Given the description of an element on the screen output the (x, y) to click on. 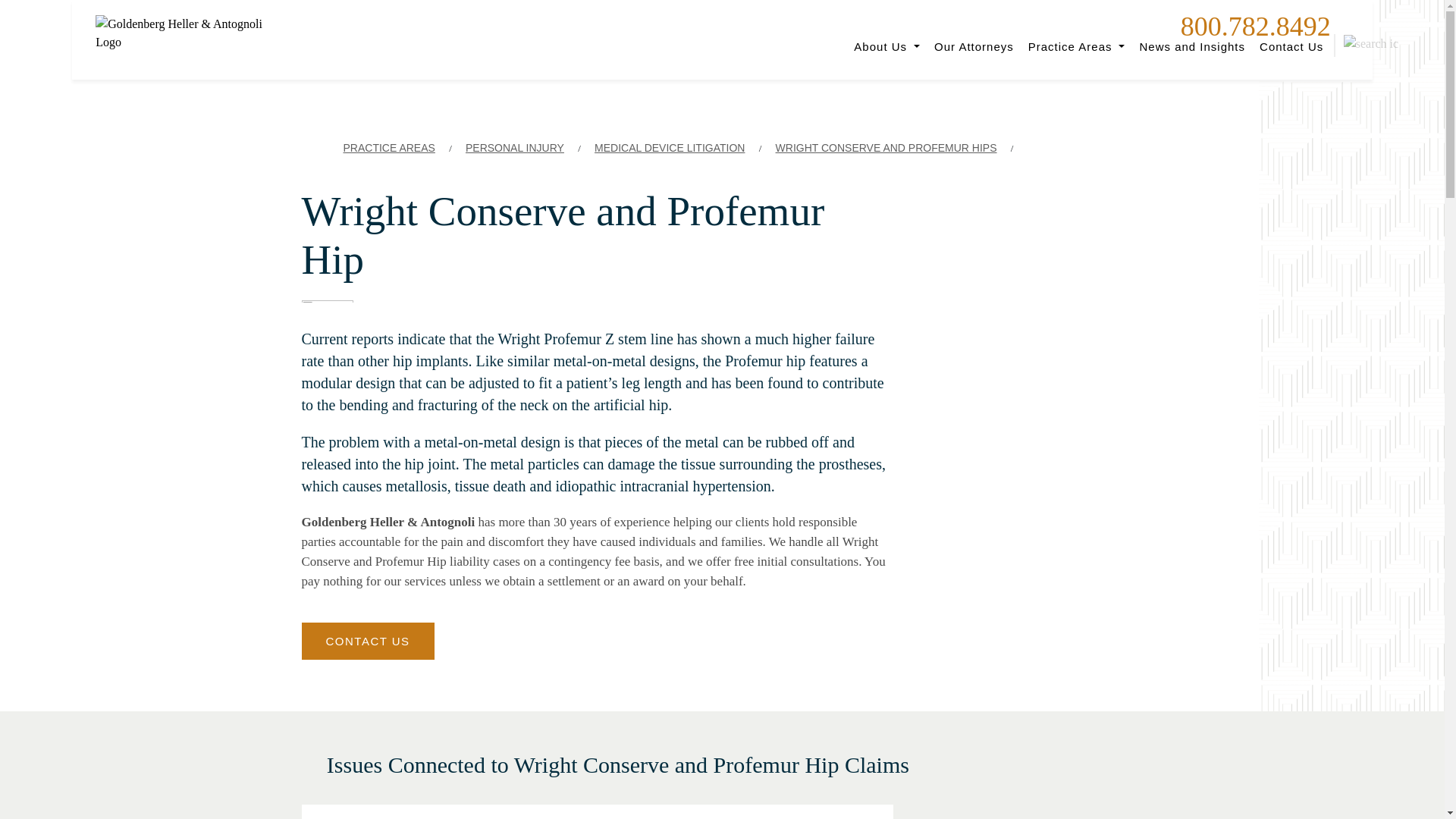
PRACTICE AREAS (388, 147)
Skip to main content (15, 3)
Our Attorneys (974, 46)
CONTACT US (367, 641)
WRIGHT CONSERVE AND PROFEMUR HIPS (886, 147)
Practice Areas (1076, 46)
Contact Us (1291, 46)
Wright Conserve and Profemur Hips (886, 147)
Medical Device Litigation (669, 147)
PERSONAL INJURY (515, 147)
Personal Injury (515, 147)
News and Insights (1192, 46)
About Us (887, 46)
800.782.8492 (1255, 26)
MEDICAL DEVICE LITIGATION (669, 147)
